Given the description of an element on the screen output the (x, y) to click on. 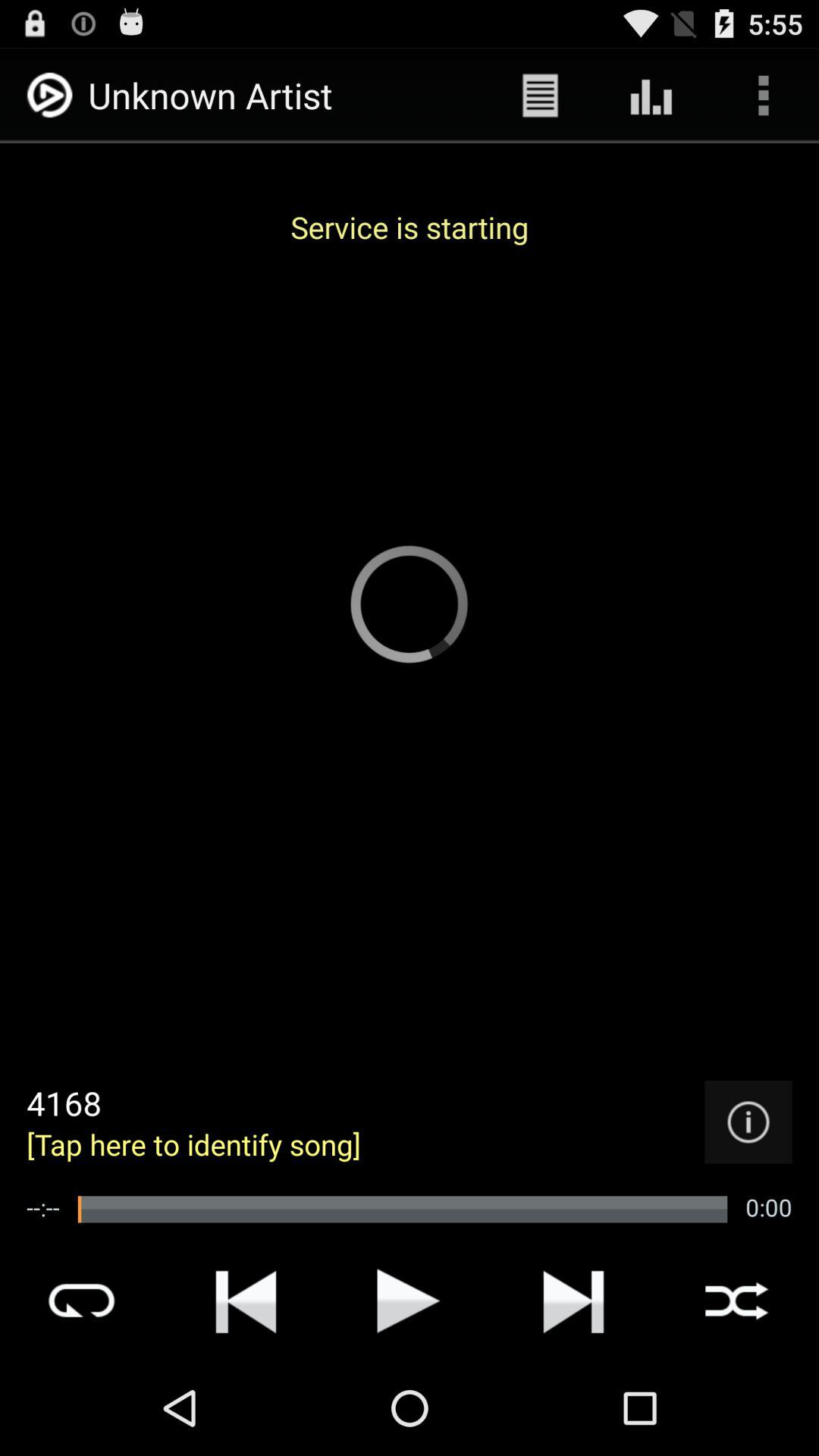
rewind (245, 1300)
